Given the description of an element on the screen output the (x, y) to click on. 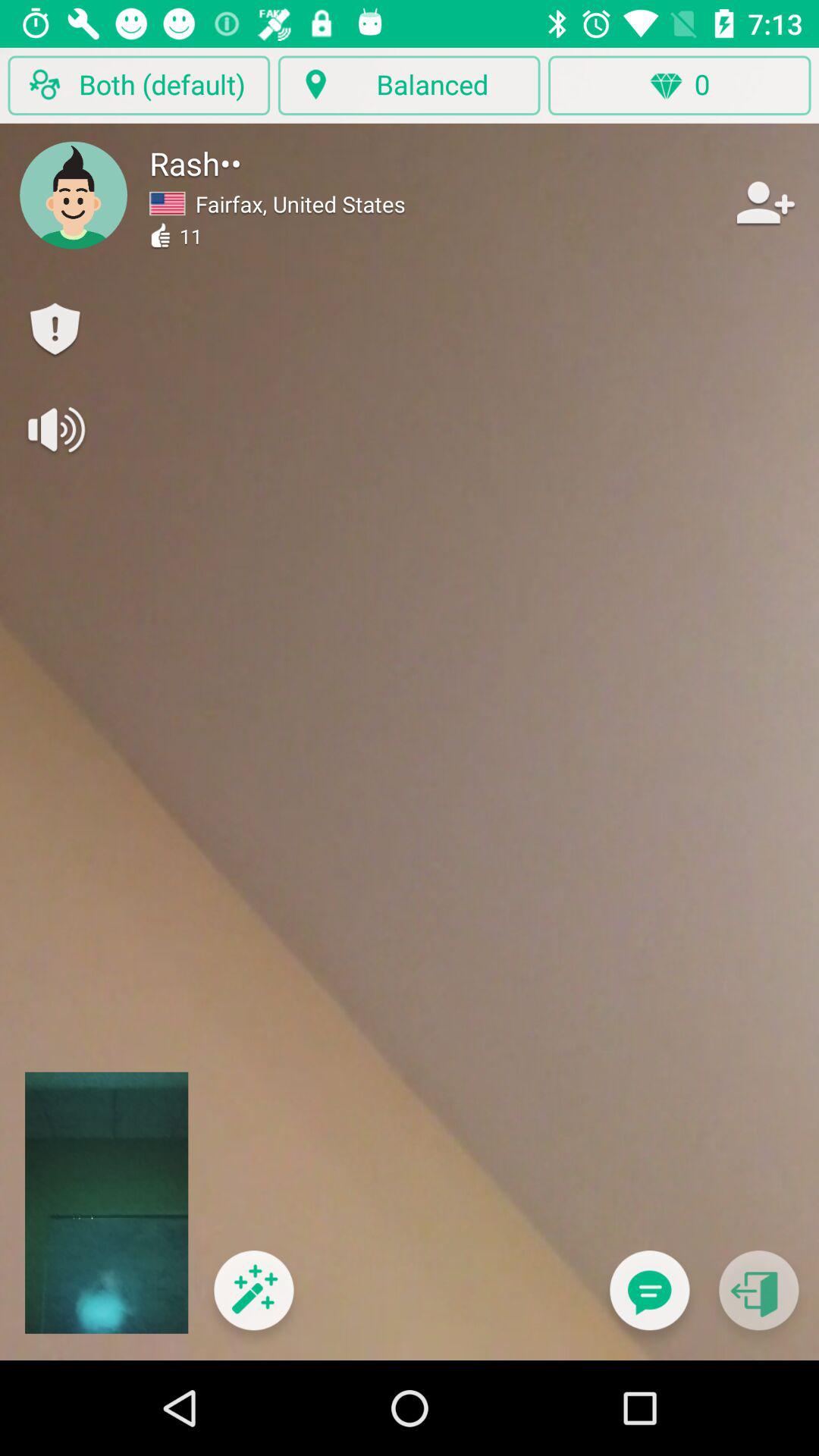
turn sound on (55, 429)
